Given the description of an element on the screen output the (x, y) to click on. 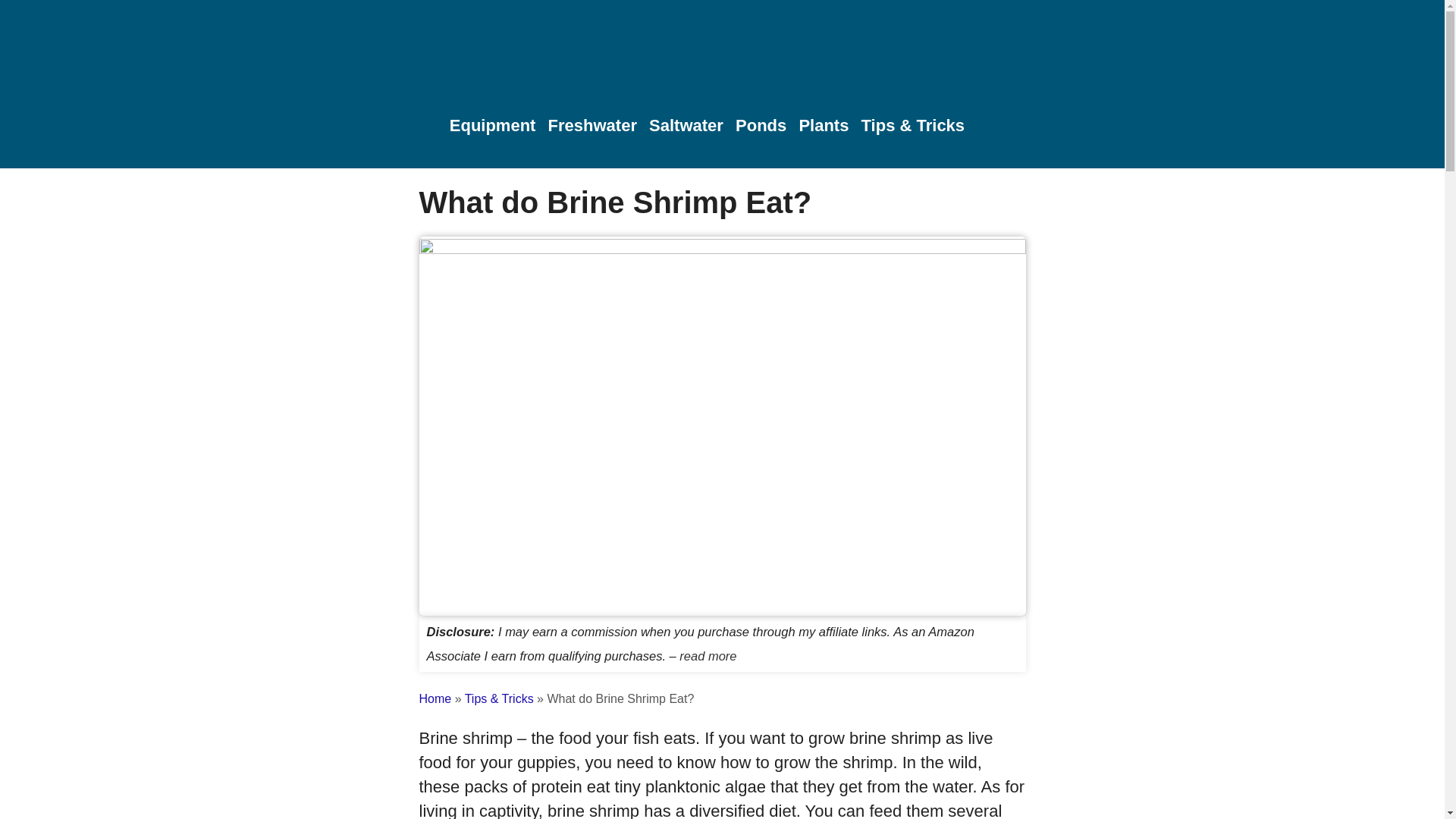
Smart Aquarium Guide (721, 52)
Equipment (492, 125)
Ponds (760, 125)
Freshwater (592, 125)
Saltwater (686, 125)
Home (435, 698)
Plants (822, 125)
read more (707, 655)
